Given the description of an element on the screen output the (x, y) to click on. 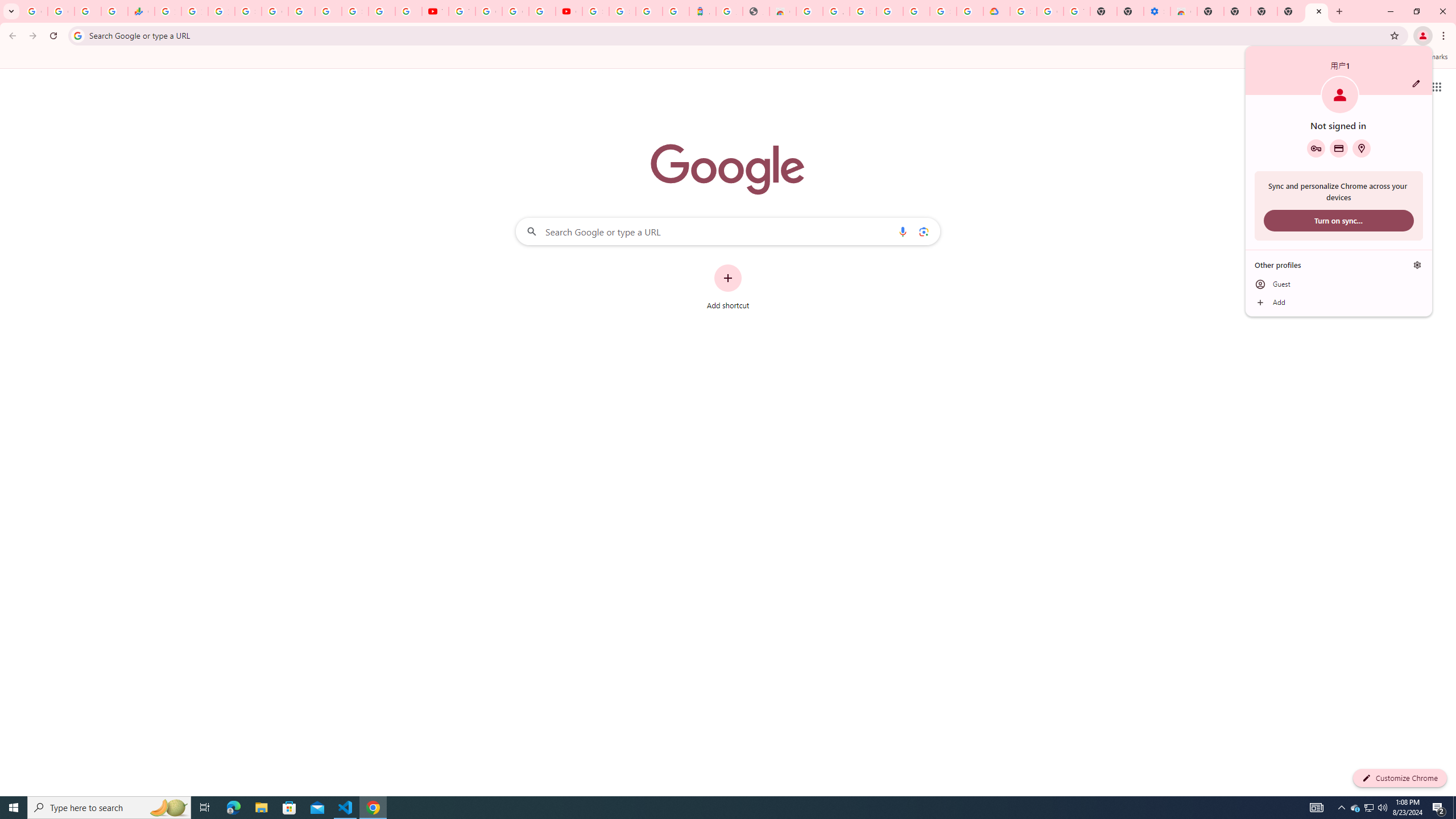
Ad Settings (836, 11)
Q2790: 100% (1382, 807)
New Tab (1210, 11)
YouTube (435, 11)
Task View (204, 807)
Google Account Help (1050, 11)
Action Center, 2 new notifications (1439, 807)
